Given the description of an element on the screen output the (x, y) to click on. 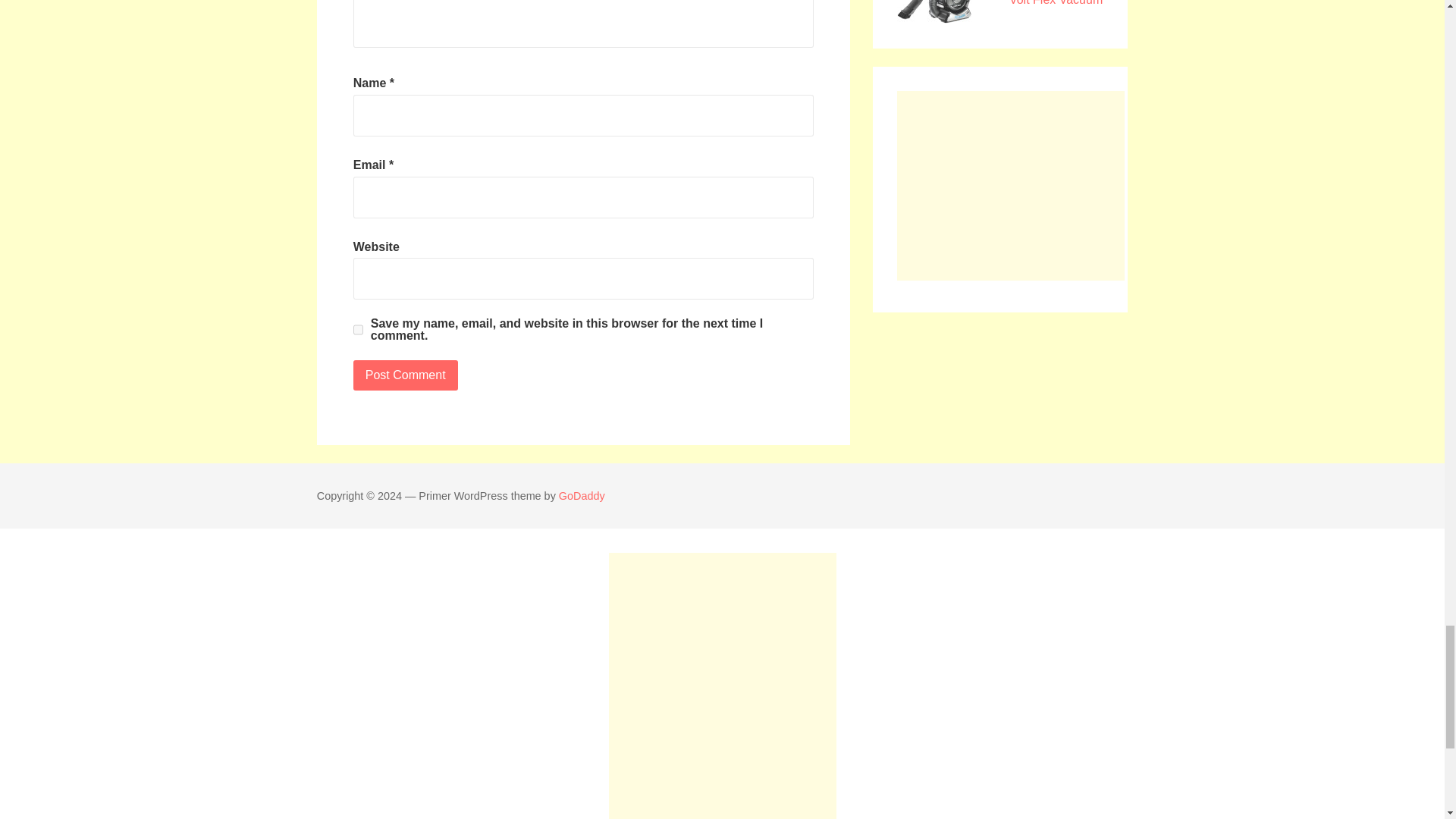
Post Comment (405, 375)
